Given the description of an element on the screen output the (x, y) to click on. 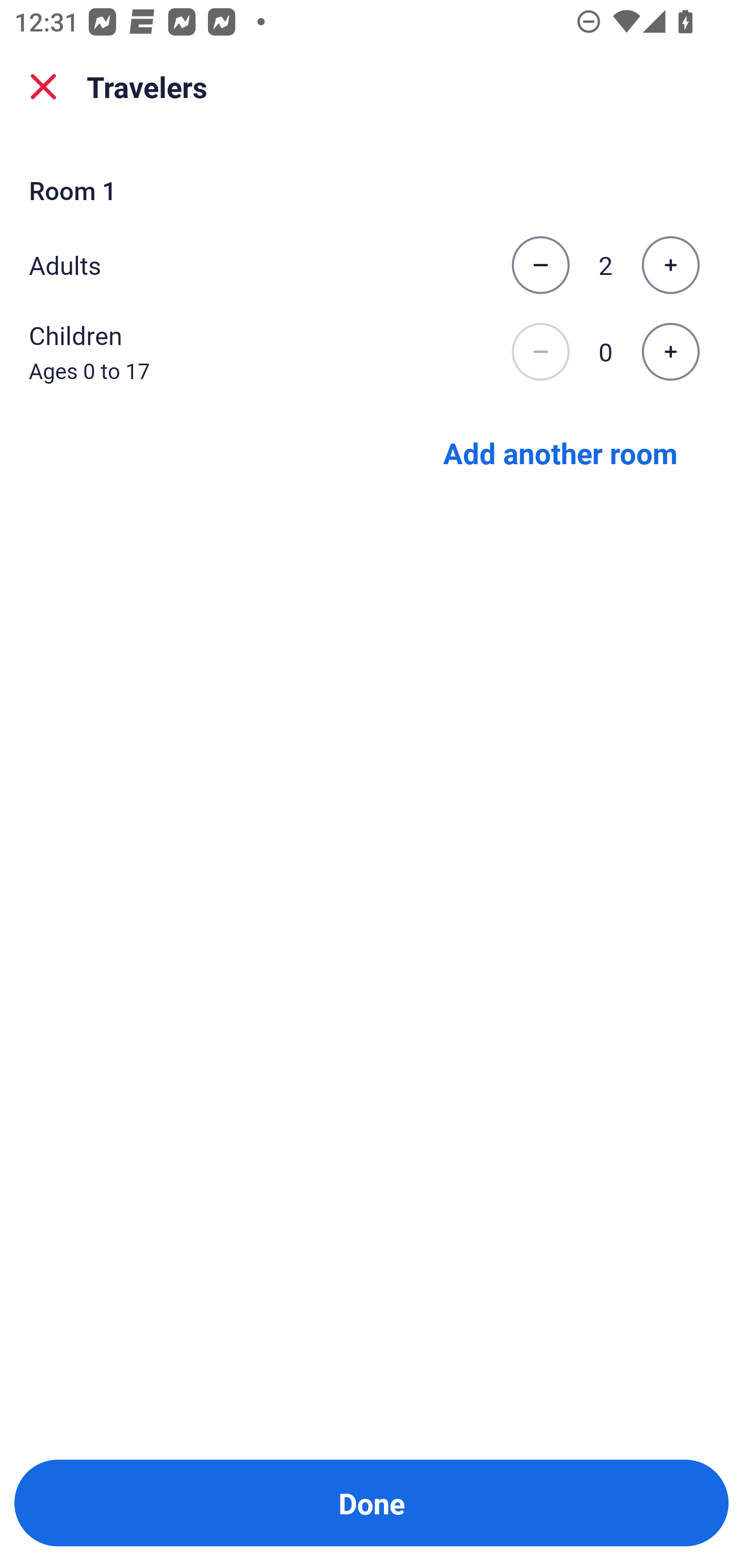
close (43, 86)
Decrease the number of adults (540, 264)
Increase the number of adults (670, 264)
Decrease the number of children (540, 351)
Increase the number of children (670, 351)
Add another room (560, 452)
Done (371, 1502)
